Given the description of an element on the screen output the (x, y) to click on. 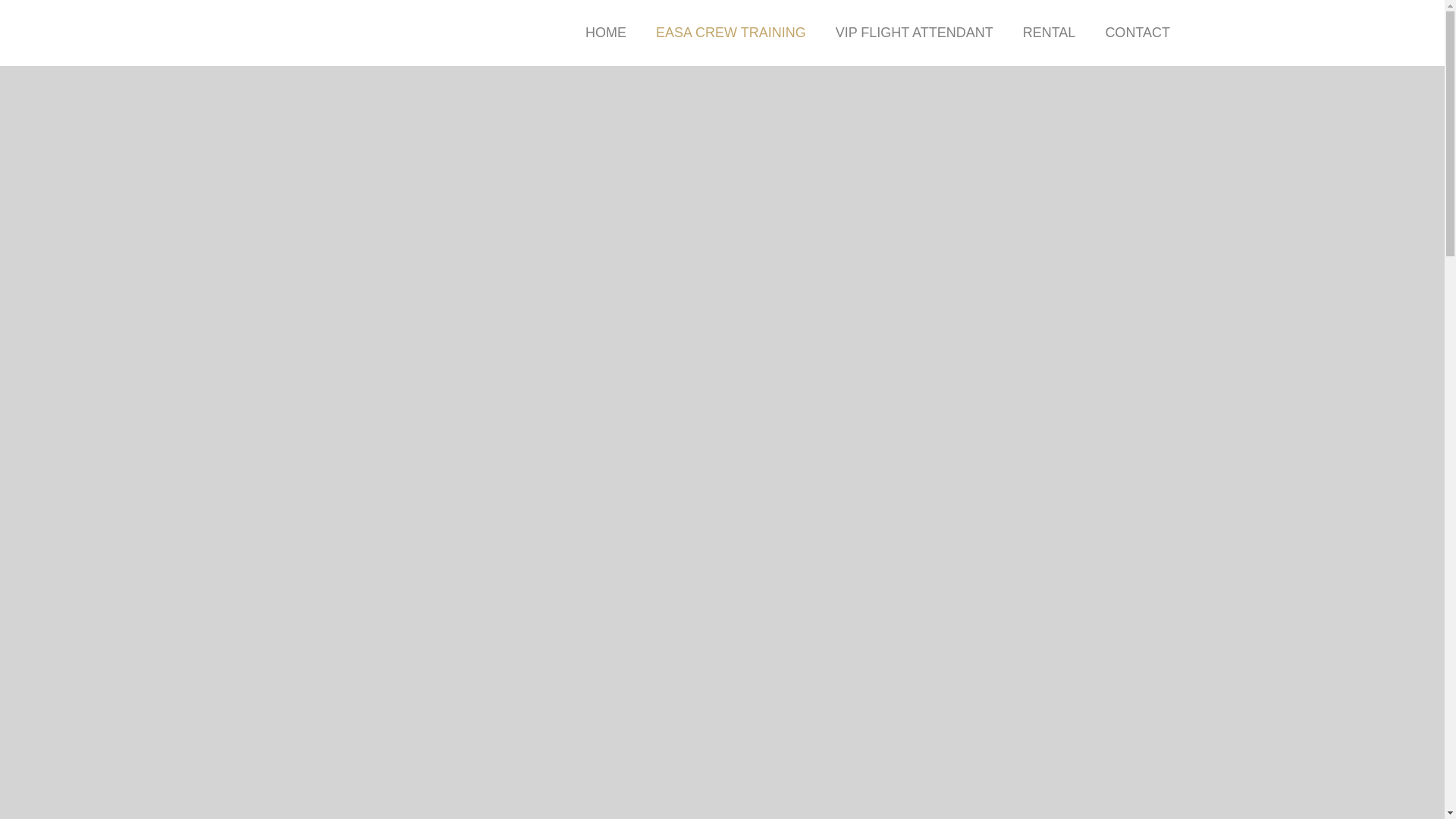
RENTAL (1049, 32)
HOME (606, 32)
VIP FLIGHT ATTENDANT (914, 32)
HOME (606, 32)
EASA CREW TRAINING (730, 32)
CONTACT (1136, 32)
CONTACT (1136, 32)
VIP FLIGHT ATTENDANT (914, 32)
RENTAL (1049, 32)
EASA CREW TRAINING (730, 32)
